Given the description of an element on the screen output the (x, y) to click on. 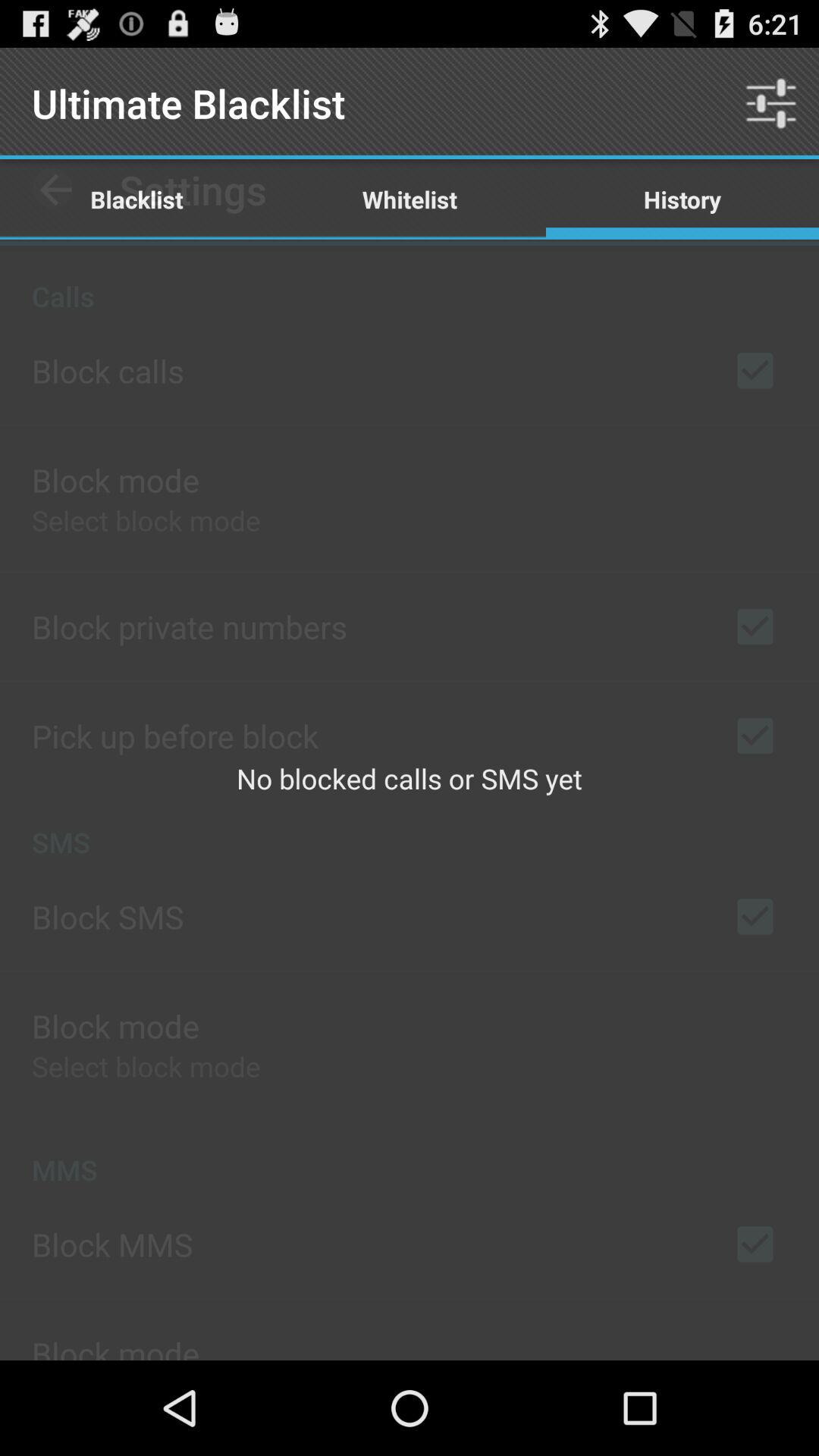
open the item to the right of whitelist (771, 103)
